Given the description of an element on the screen output the (x, y) to click on. 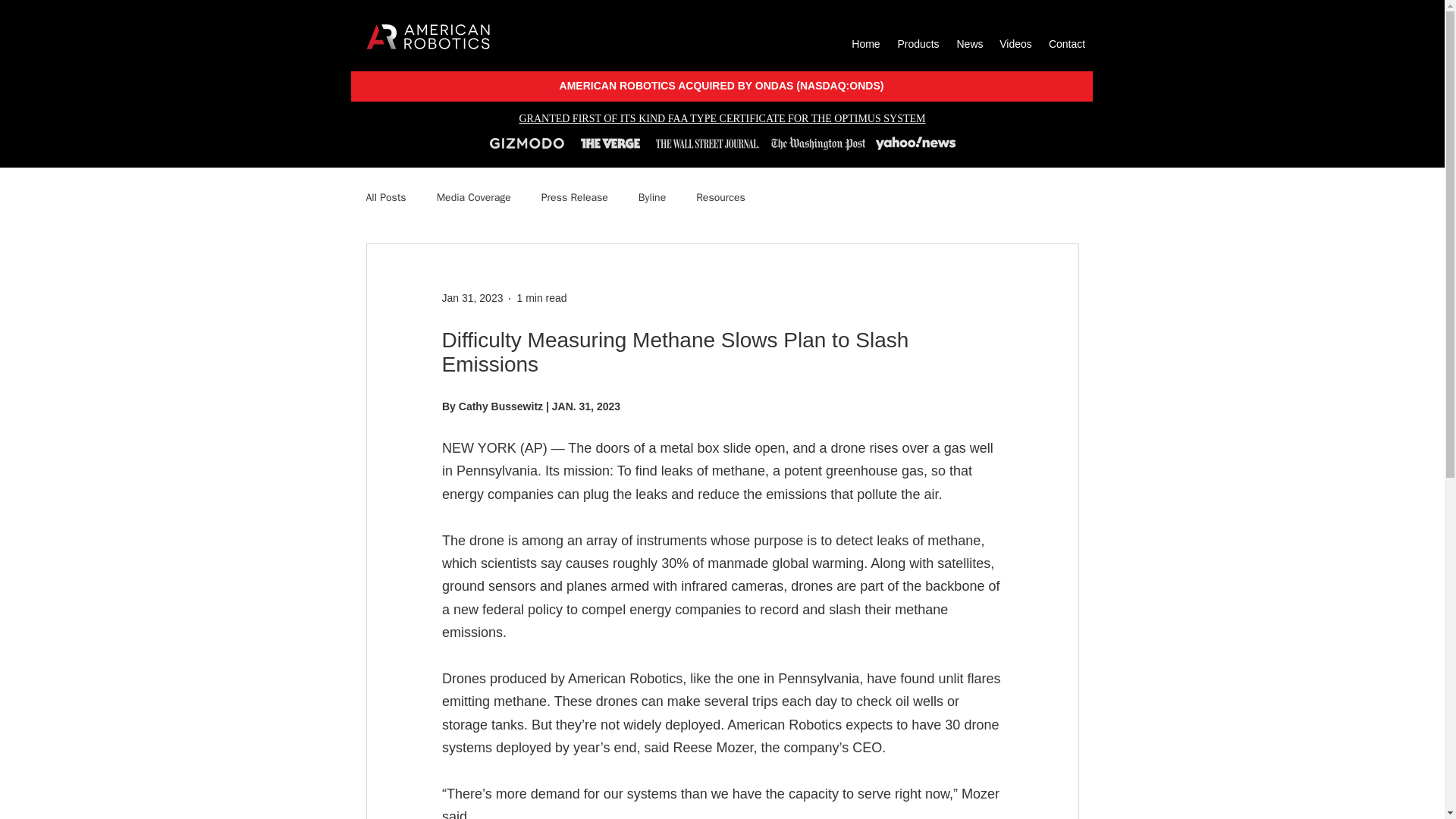
Byline (652, 197)
1 min read (541, 297)
WSJ logo 2.png (706, 143)
Videos (1016, 43)
Home (865, 43)
Resources (720, 197)
All Posts (385, 197)
the-verge-logo.png (609, 143)
C (461, 405)
News (969, 43)
Media Coverage (473, 197)
Jan 31, 2023 (471, 297)
Contact (1067, 43)
Press Release (574, 197)
